Given the description of an element on the screen output the (x, y) to click on. 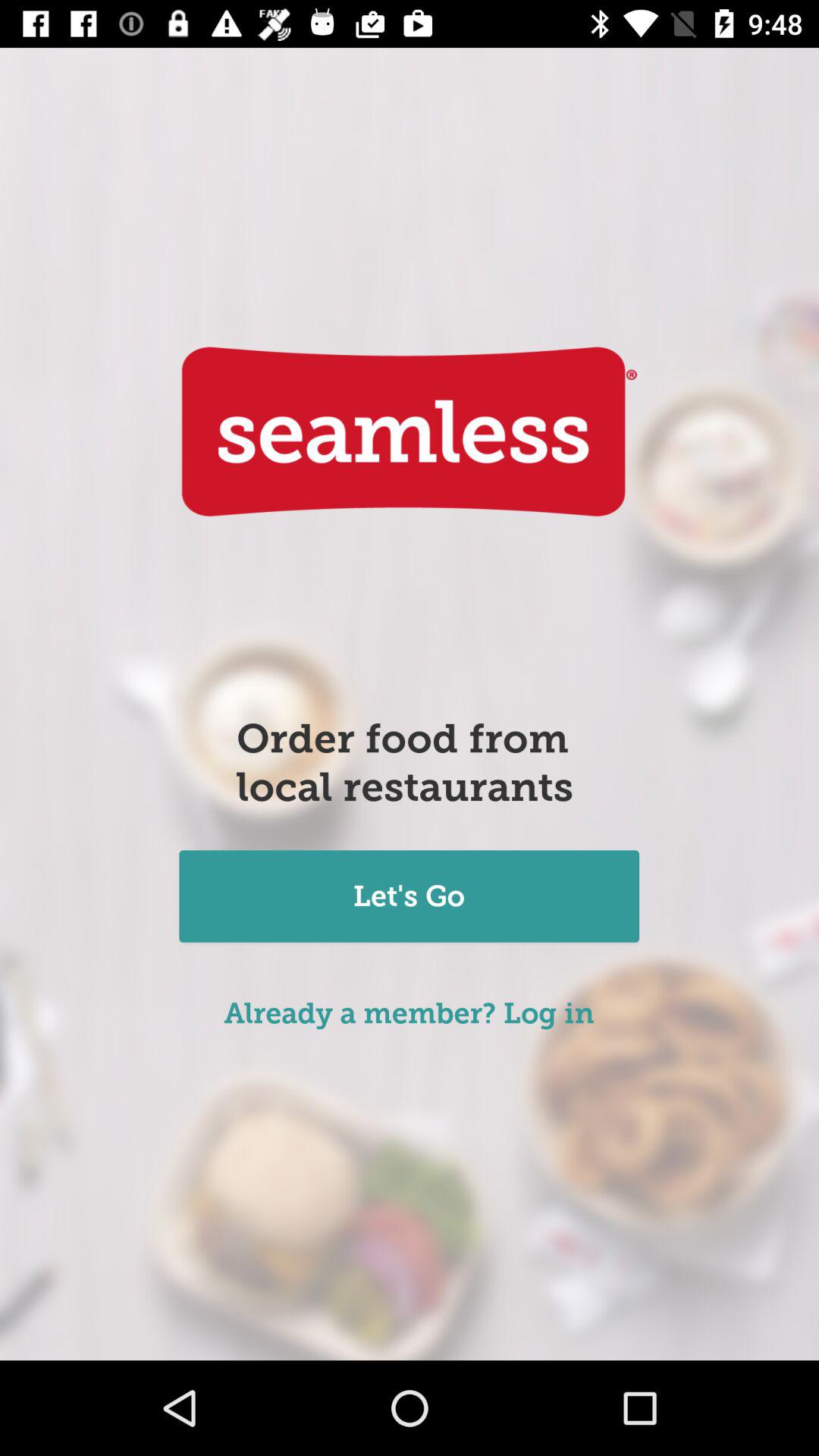
click icon below the let's go item (409, 1013)
